Given the description of an element on the screen output the (x, y) to click on. 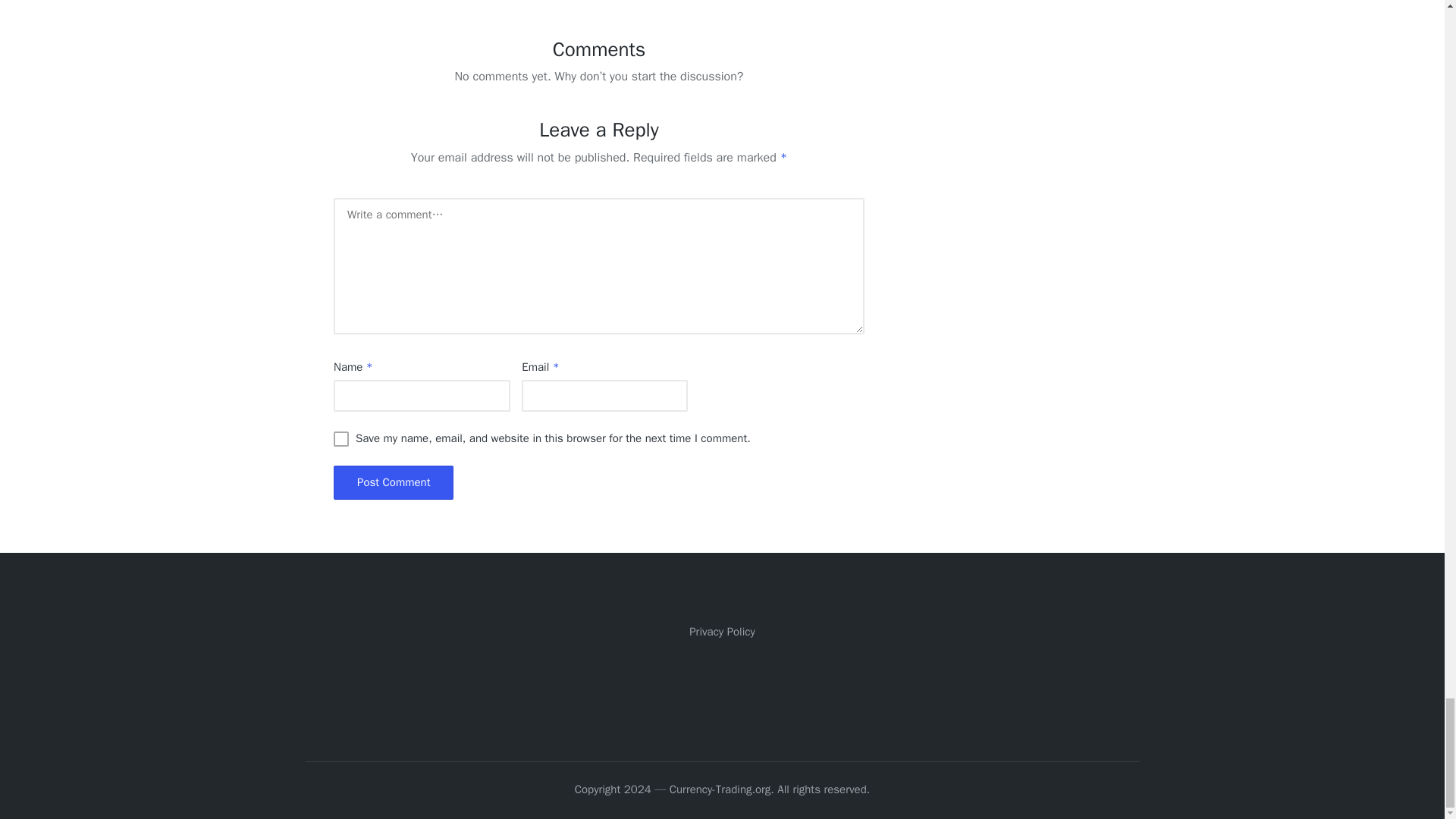
DMCA.com Protection Status (722, 688)
Post Comment (392, 482)
Post Comment (392, 482)
yes (341, 438)
